Given the description of an element on the screen output the (x, y) to click on. 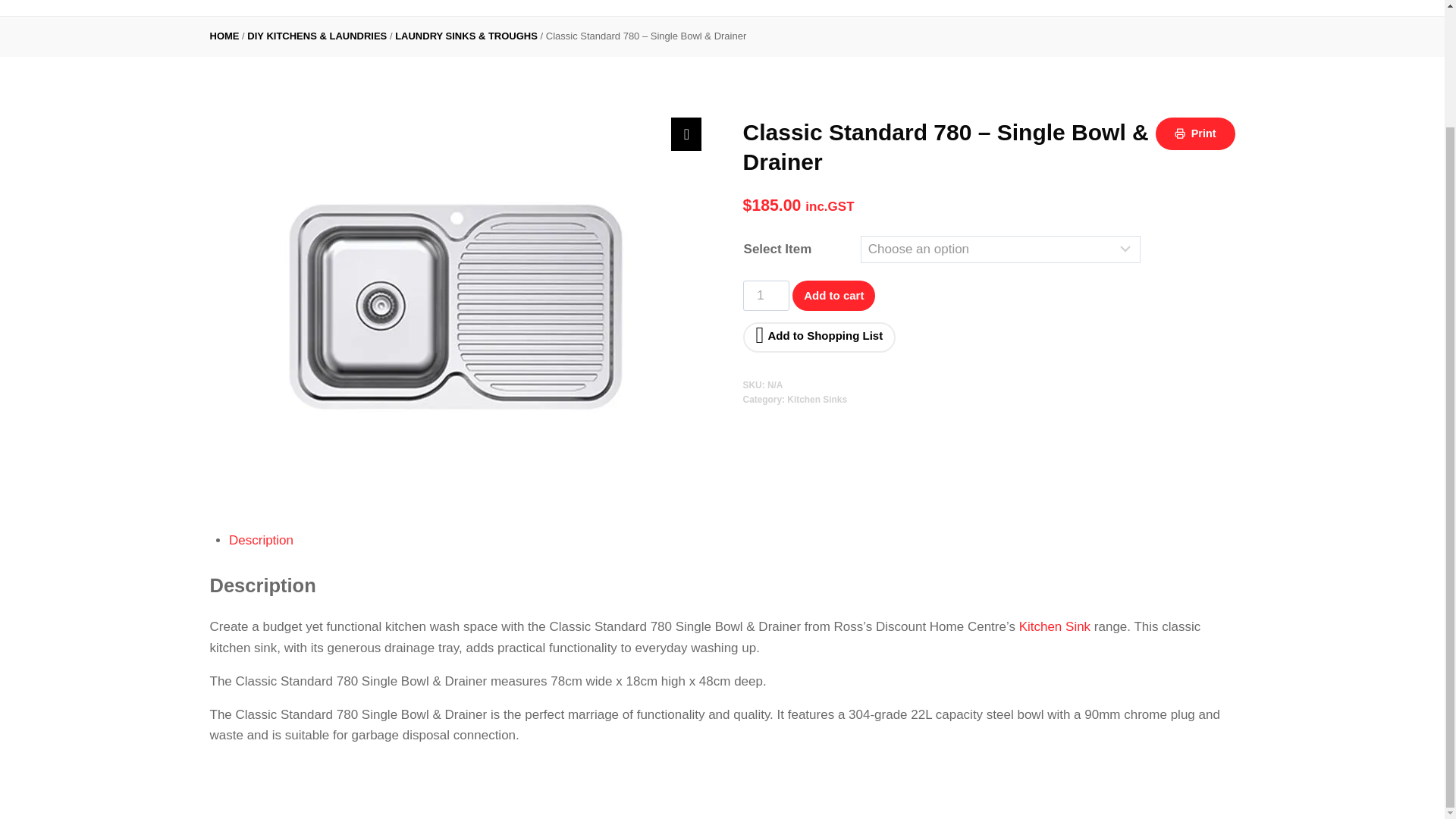
1 (766, 295)
